Given the description of an element on the screen output the (x, y) to click on. 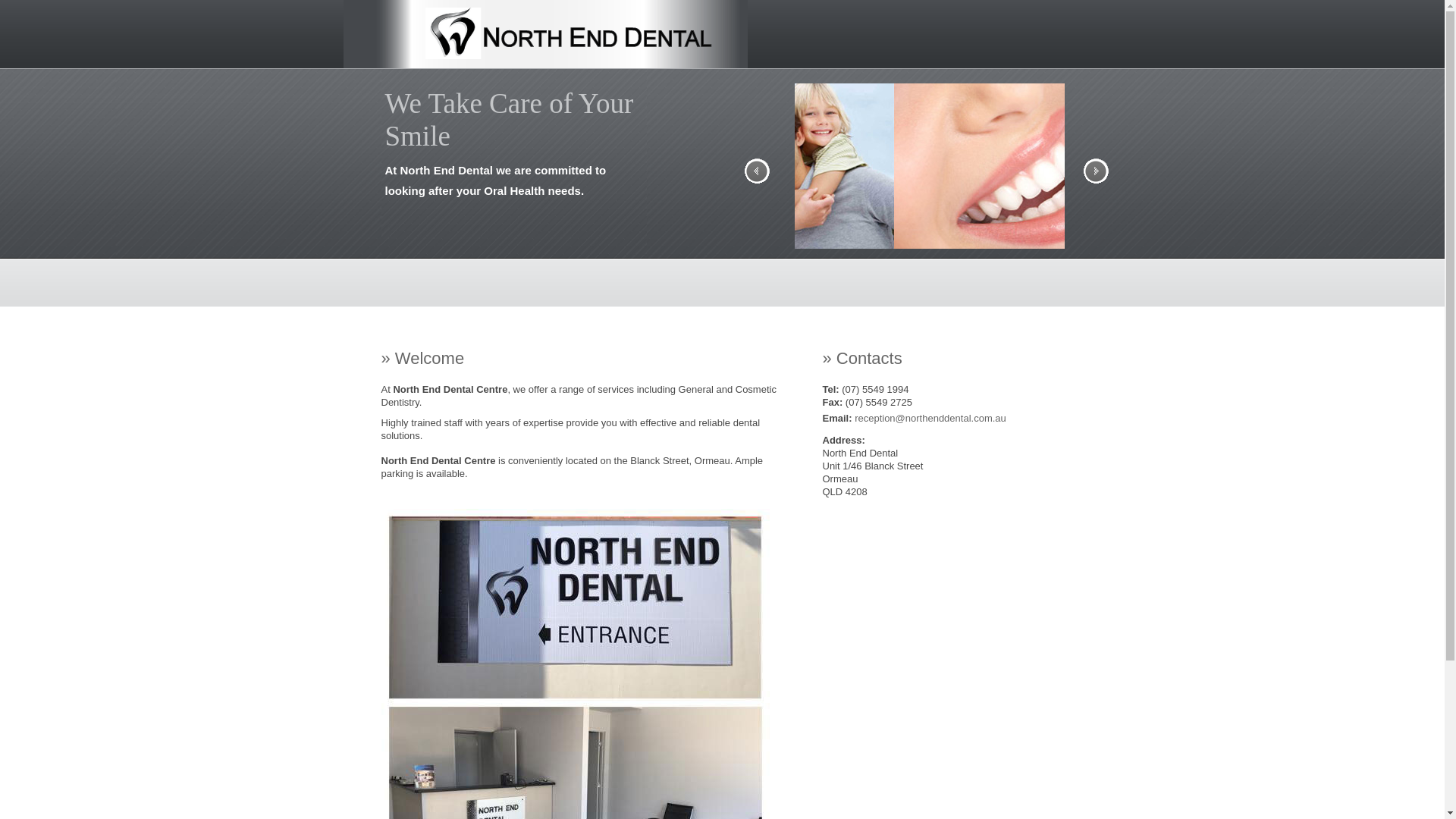
reception@northenddental.com.au Element type: text (930, 417)
